Given the description of an element on the screen output the (x, y) to click on. 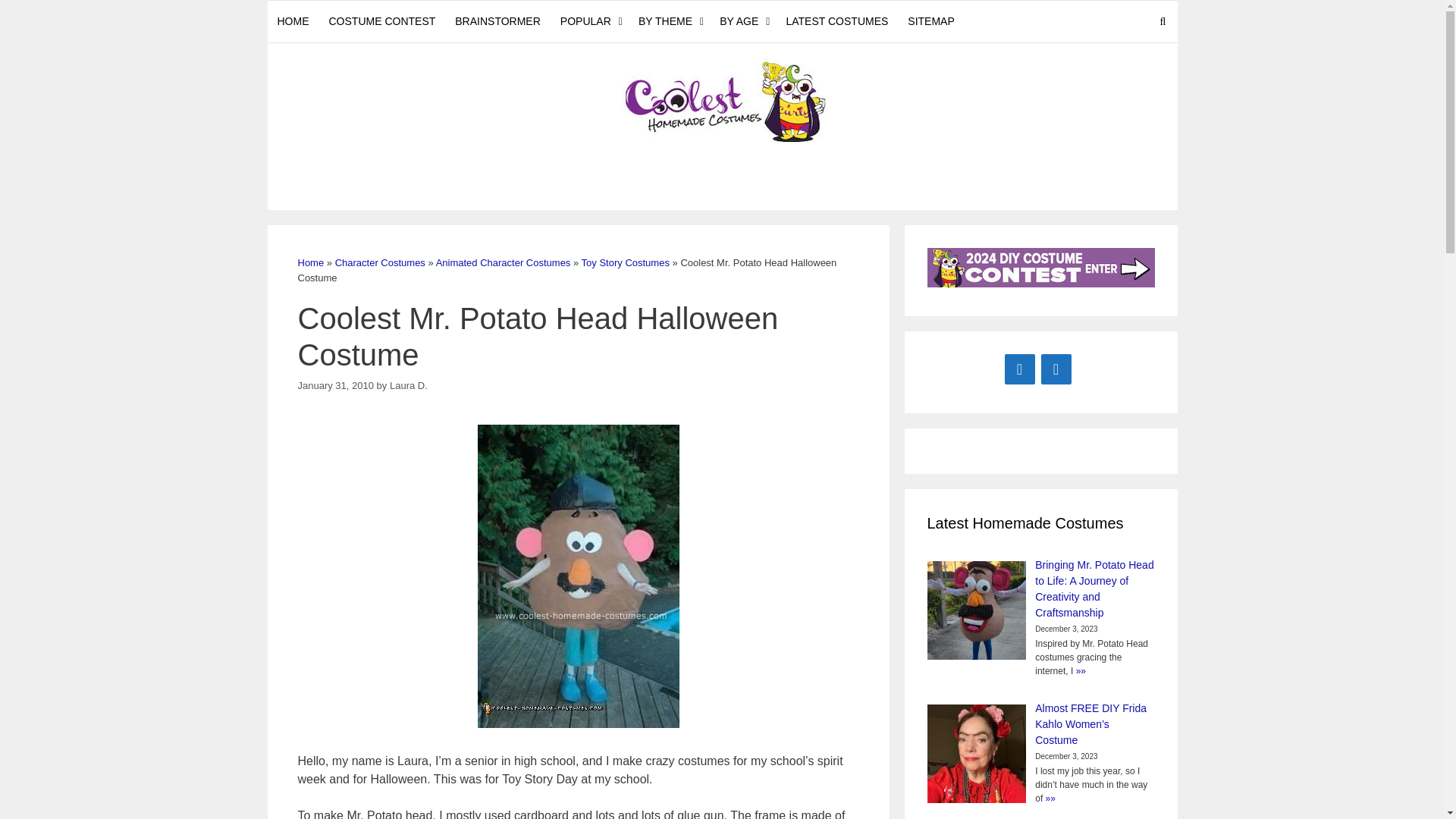
SITEMAP (930, 21)
BY THEME (669, 21)
View all posts by Laura D. (409, 384)
BY AGE (743, 21)
Facebook (1018, 368)
BRAINSTORMER (497, 21)
Instagram (1055, 368)
POPULAR (589, 21)
COSTUME CONTEST (381, 21)
LATEST COSTUMES (837, 21)
HOME (292, 21)
